Given the description of an element on the screen output the (x, y) to click on. 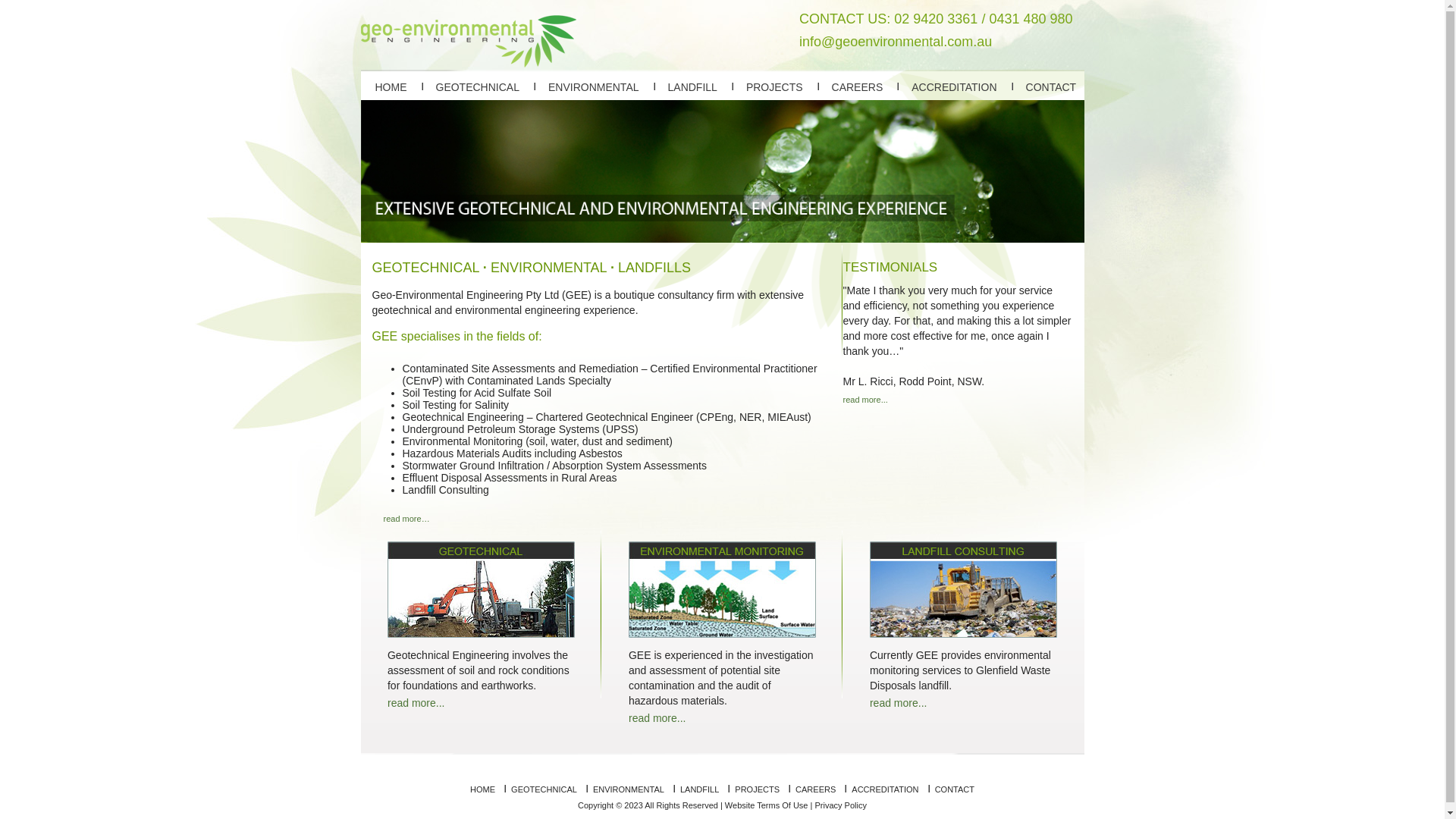
CONTACT Element type: text (1051, 87)
PROJECTS Element type: text (774, 87)
CAREERS Element type: text (815, 788)
CONTACT Element type: text (954, 788)
LANDFILL Element type: text (699, 788)
LANDFILL Element type: text (692, 87)
HOME Element type: text (482, 788)
HOME Element type: text (390, 87)
ENVIRONMENTAL Element type: text (628, 788)
GEOTECHNICAL Element type: text (476, 87)
read more... Element type: text (415, 702)
read more... Element type: text (897, 702)
GEOTECHNICAL Element type: text (544, 788)
read more... Element type: text (656, 718)
ACCREDITATION Element type: text (953, 87)
Privacy Policy Element type: text (840, 804)
ENVIRONMENTAL Element type: text (593, 87)
PROJECTS Element type: text (756, 788)
CAREERS Element type: text (857, 87)
Website Terms Of Use Element type: text (766, 804)
ACCREDITATION Element type: text (884, 788)
read more... Element type: text (865, 399)
